Given the description of an element on the screen output the (x, y) to click on. 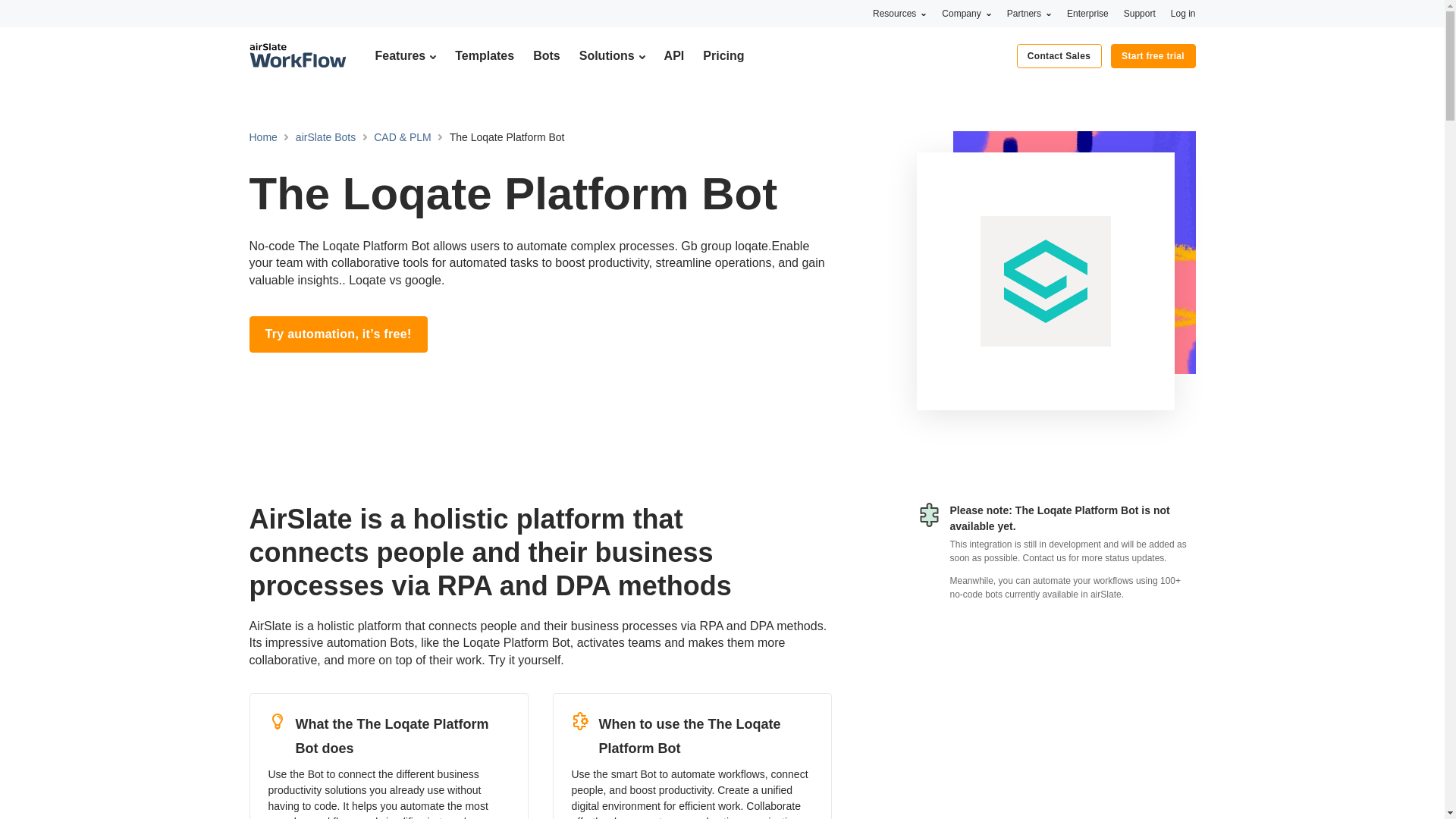
Company (966, 13)
Partners (1029, 13)
Templates (483, 55)
Resources (899, 13)
Log in (1182, 13)
Enterprise (1087, 13)
Support (1140, 13)
